Given the description of an element on the screen output the (x, y) to click on. 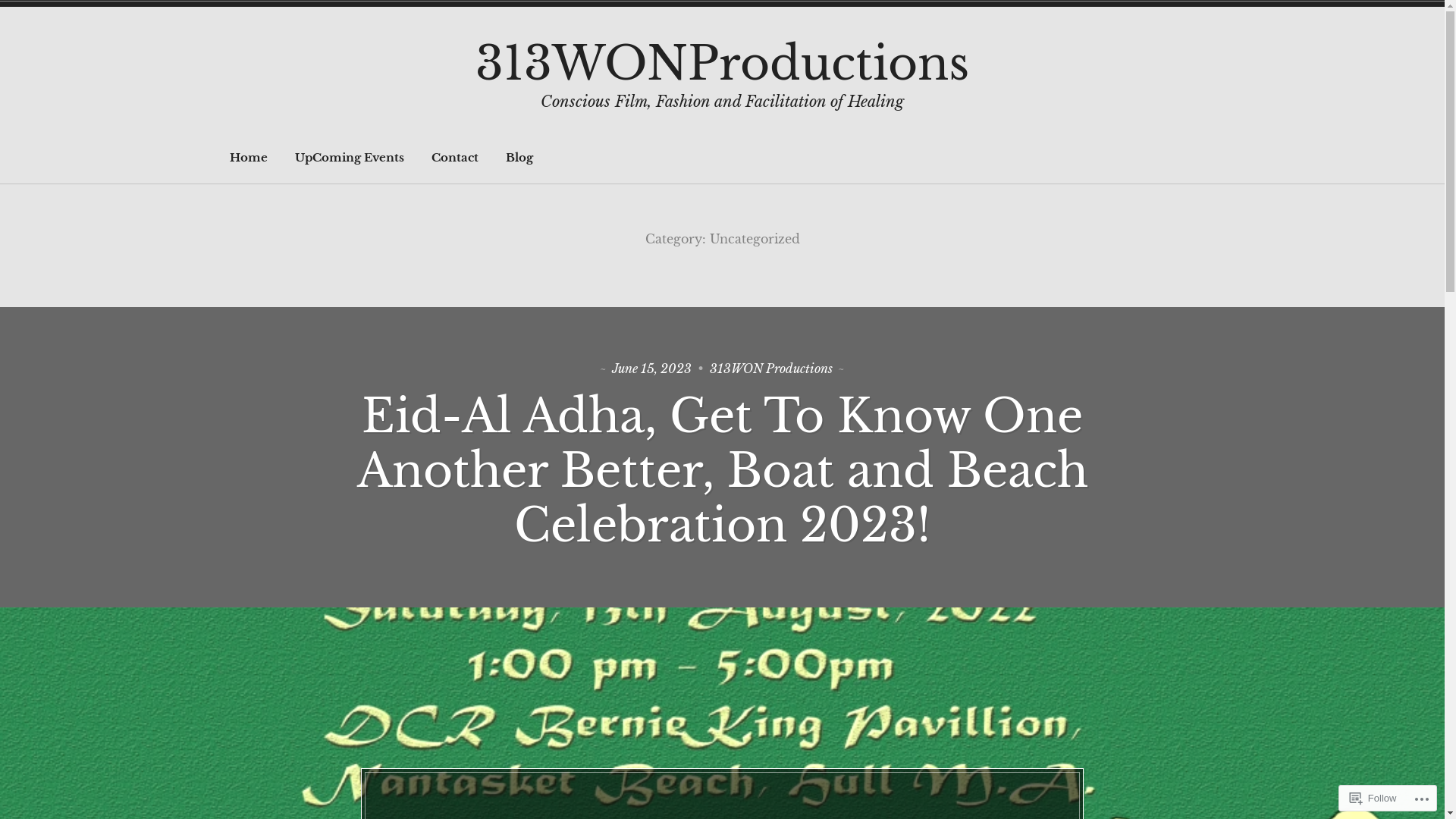
313WON Productions Element type: text (770, 368)
Blog Element type: text (519, 157)
313WONProductions Element type: text (722, 63)
June 15, 2023 Element type: text (651, 368)
UpComing Events Element type: text (349, 157)
Contact Element type: text (454, 157)
Home Element type: text (248, 157)
Follow Element type: text (1372, 797)
